Given the description of an element on the screen output the (x, y) to click on. 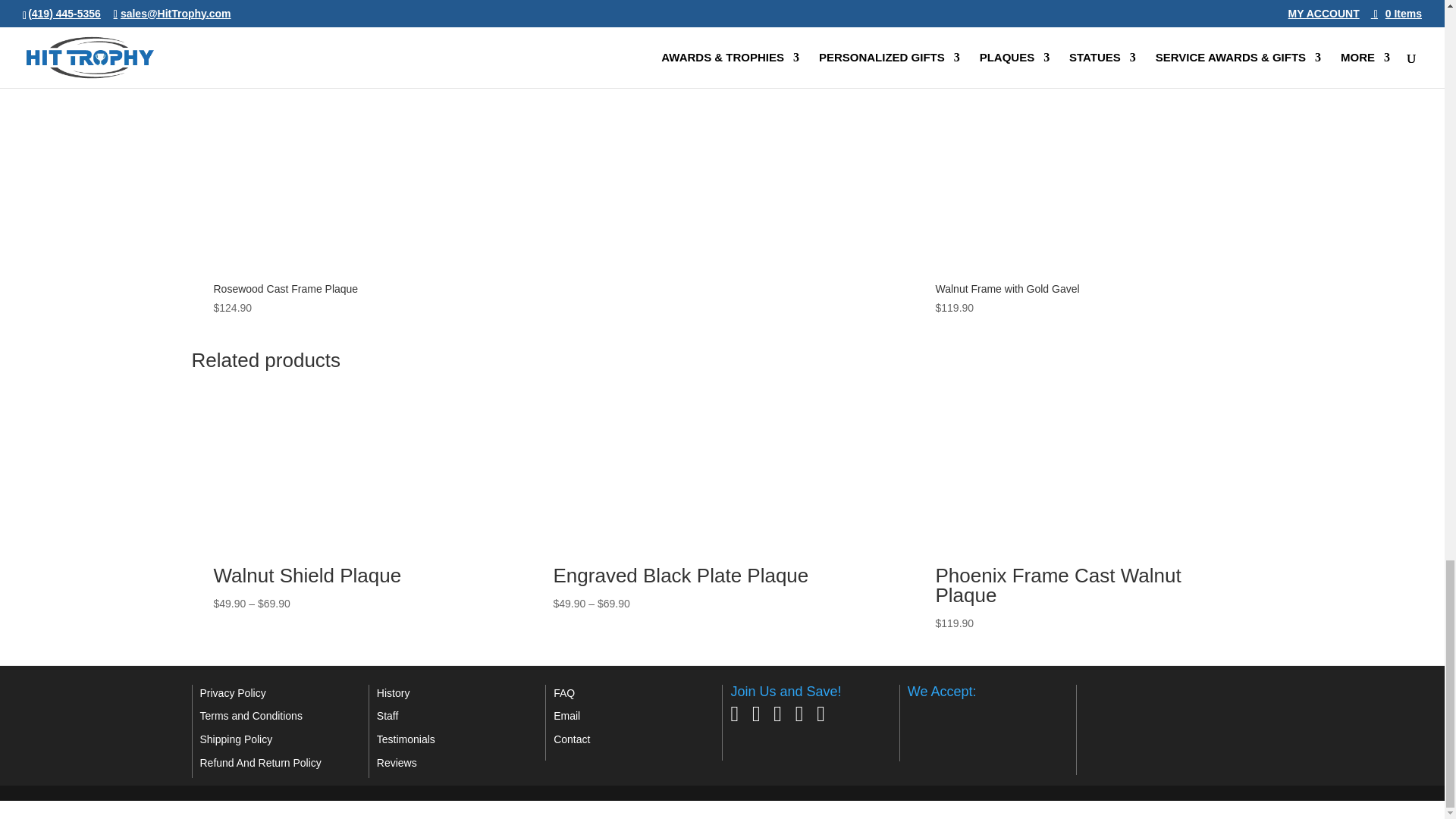
Hit, Inc., Trophies, Archbold, OH (1160, 709)
